Given the description of an element on the screen output the (x, y) to click on. 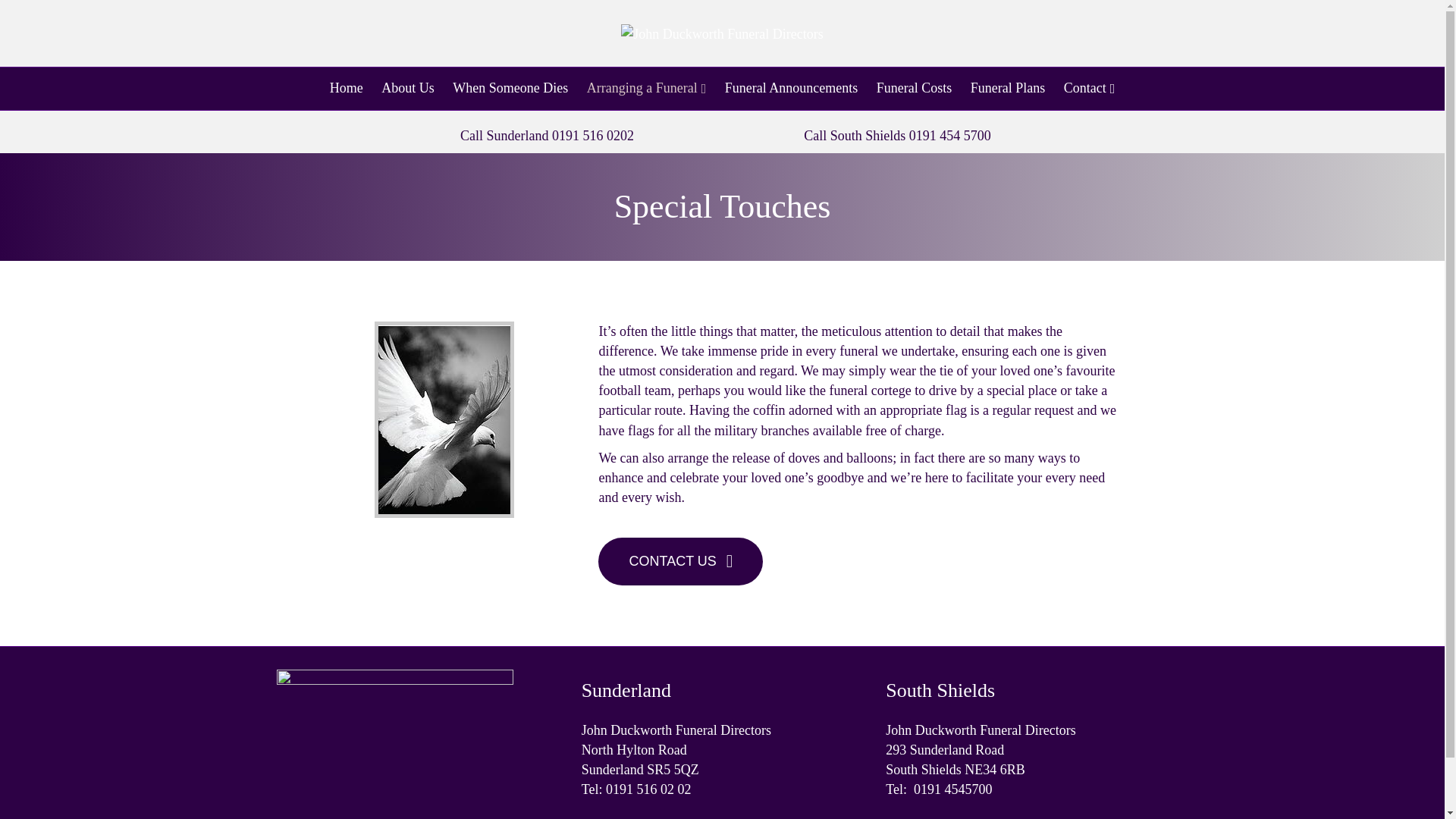
When Someone Dies (510, 87)
Funeral Plans (1007, 87)
Funeral Costs (914, 87)
Contact (1089, 88)
CONTACT US (680, 561)
Home (346, 87)
Call South Shields 0191 454 5700 (897, 135)
About Us (408, 87)
Arranging a Funeral (646, 88)
Funeral Announcements (790, 87)
